Given the description of an element on the screen output the (x, y) to click on. 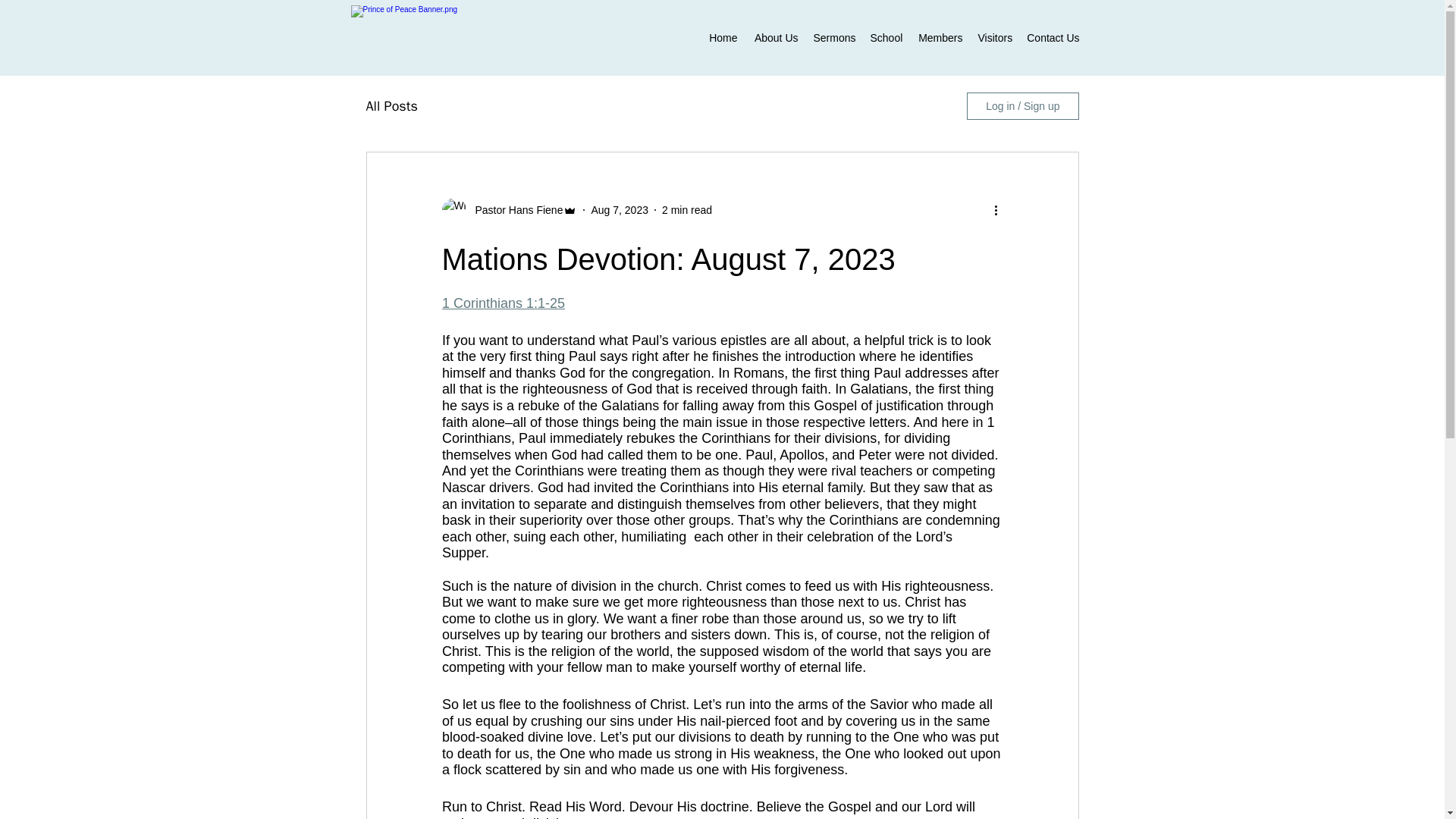
Visitors (995, 37)
Sermons (833, 37)
About Us (774, 37)
Aug 7, 2023 (619, 209)
School (886, 37)
1 Corinthians 1:1-25 (502, 303)
Members (940, 37)
Pastor Hans Fiene (513, 209)
Contact Us (1053, 37)
Home (722, 37)
